Given the description of an element on the screen output the (x, y) to click on. 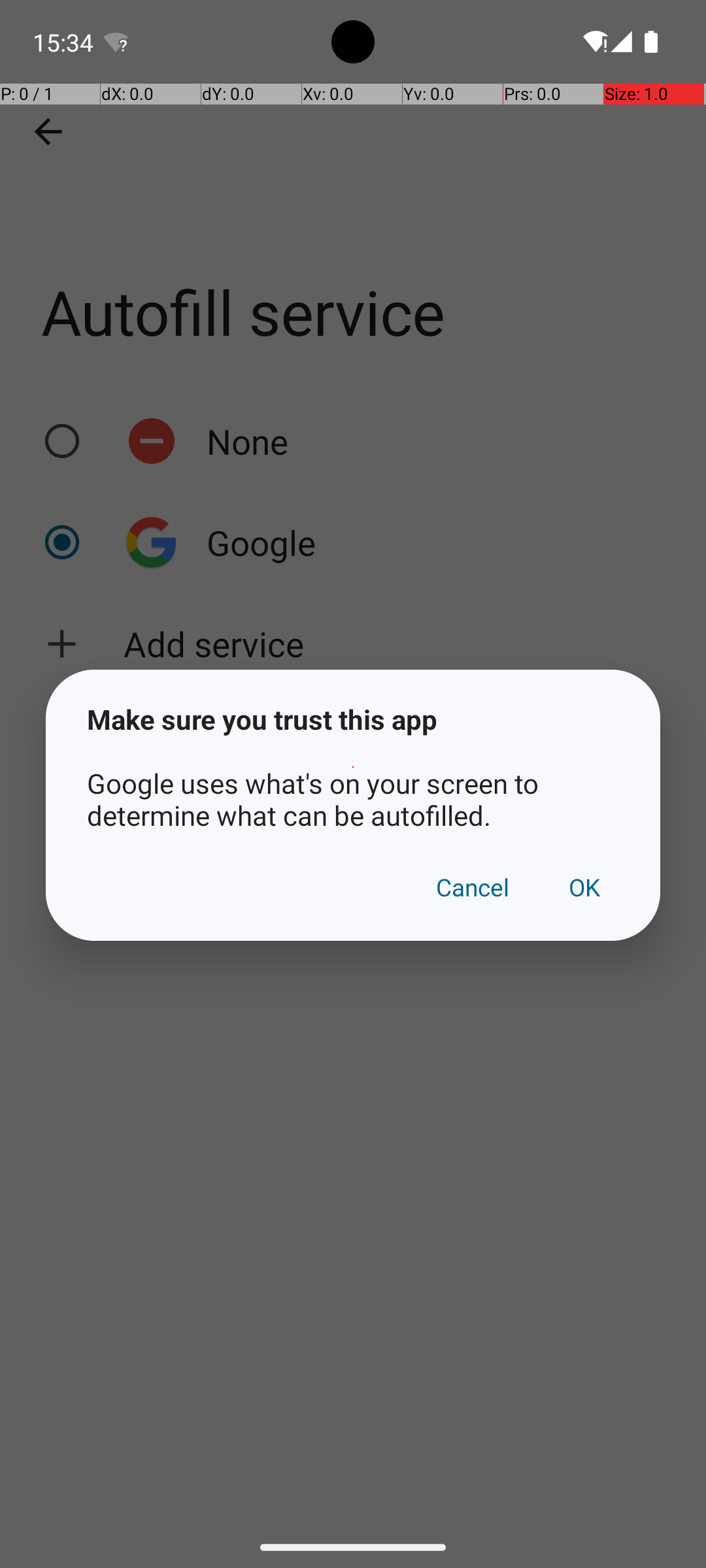
Make sure you trust this app 

Google uses what's on your screen to determine what can be autofilled. Element type: android.widget.TextView (352, 766)
